Given the description of an element on the screen output the (x, y) to click on. 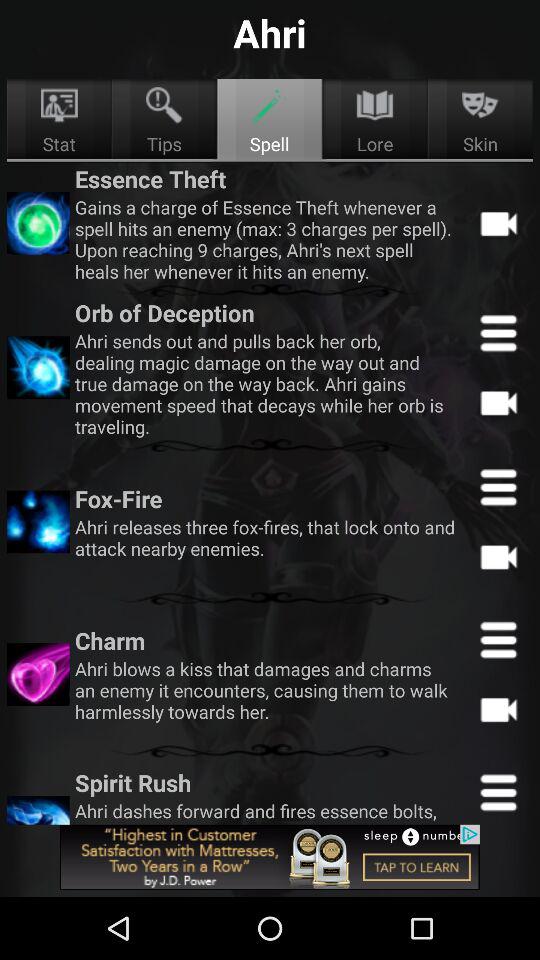
show menu for item (498, 487)
